Given the description of an element on the screen output the (x, y) to click on. 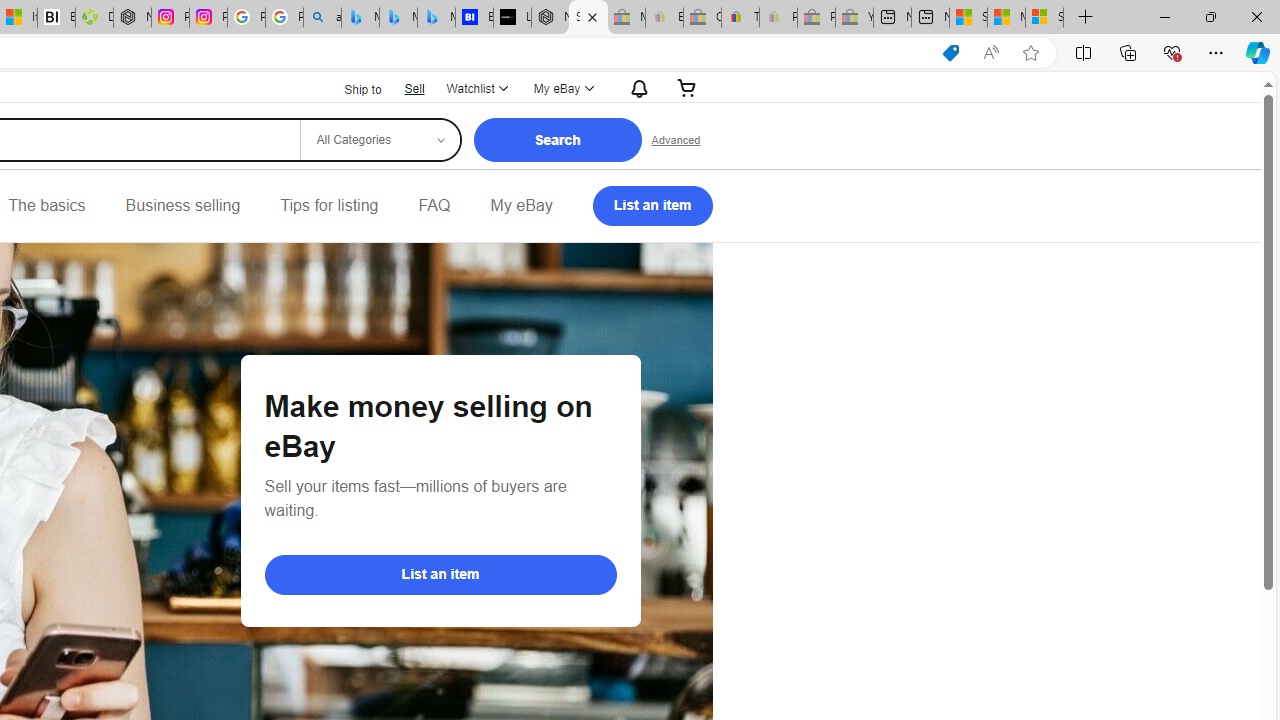
Select a category for search (379, 139)
List an item (439, 574)
Business selling (182, 205)
Sign in to your Microsoft account (1044, 17)
The basics (46, 205)
FAQ (434, 205)
Advanced Search (675, 139)
Expand Cart (687, 88)
Sell (414, 87)
Selling on eBay | Electronics, Fashion, Home & Garden | eBay (587, 17)
Nordace - Nordace Edin Collection (132, 17)
